Given the description of an element on the screen output the (x, y) to click on. 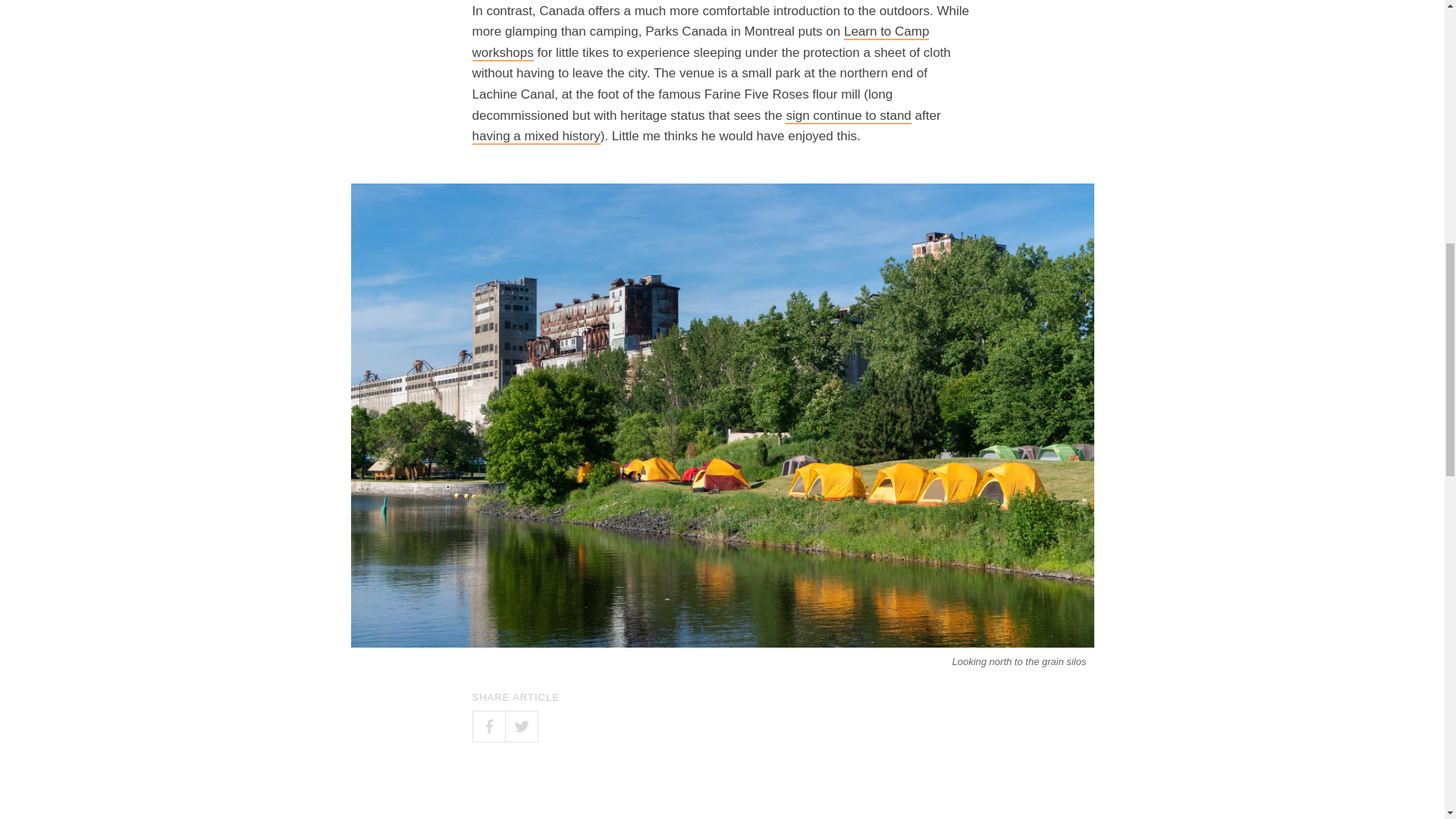
having a mixed history (535, 136)
Learn to Camp workshops (699, 42)
sign continue to stand (848, 116)
